Given the description of an element on the screen output the (x, y) to click on. 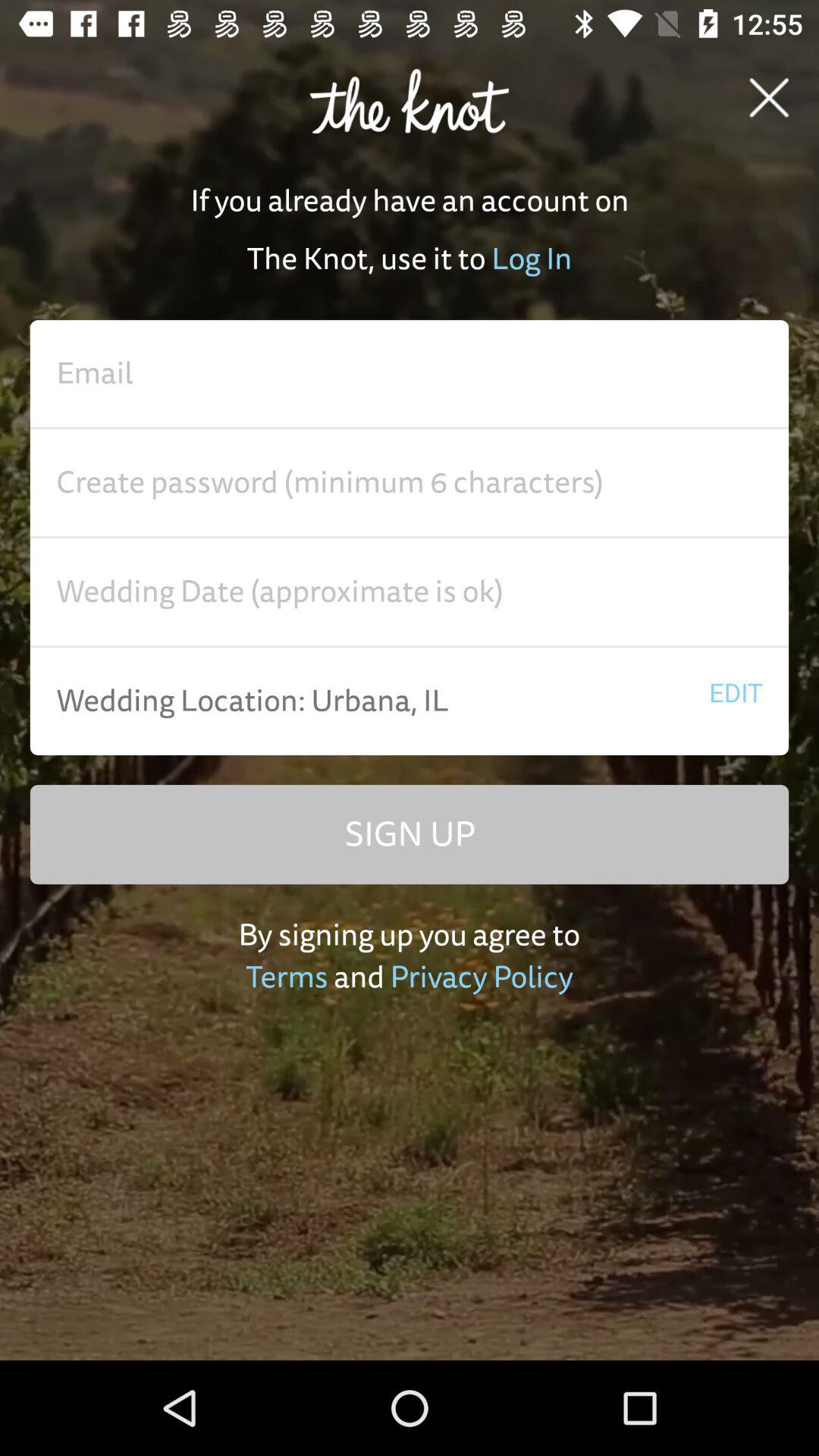
e mail create password (409, 482)
